Given the description of an element on the screen output the (x, y) to click on. 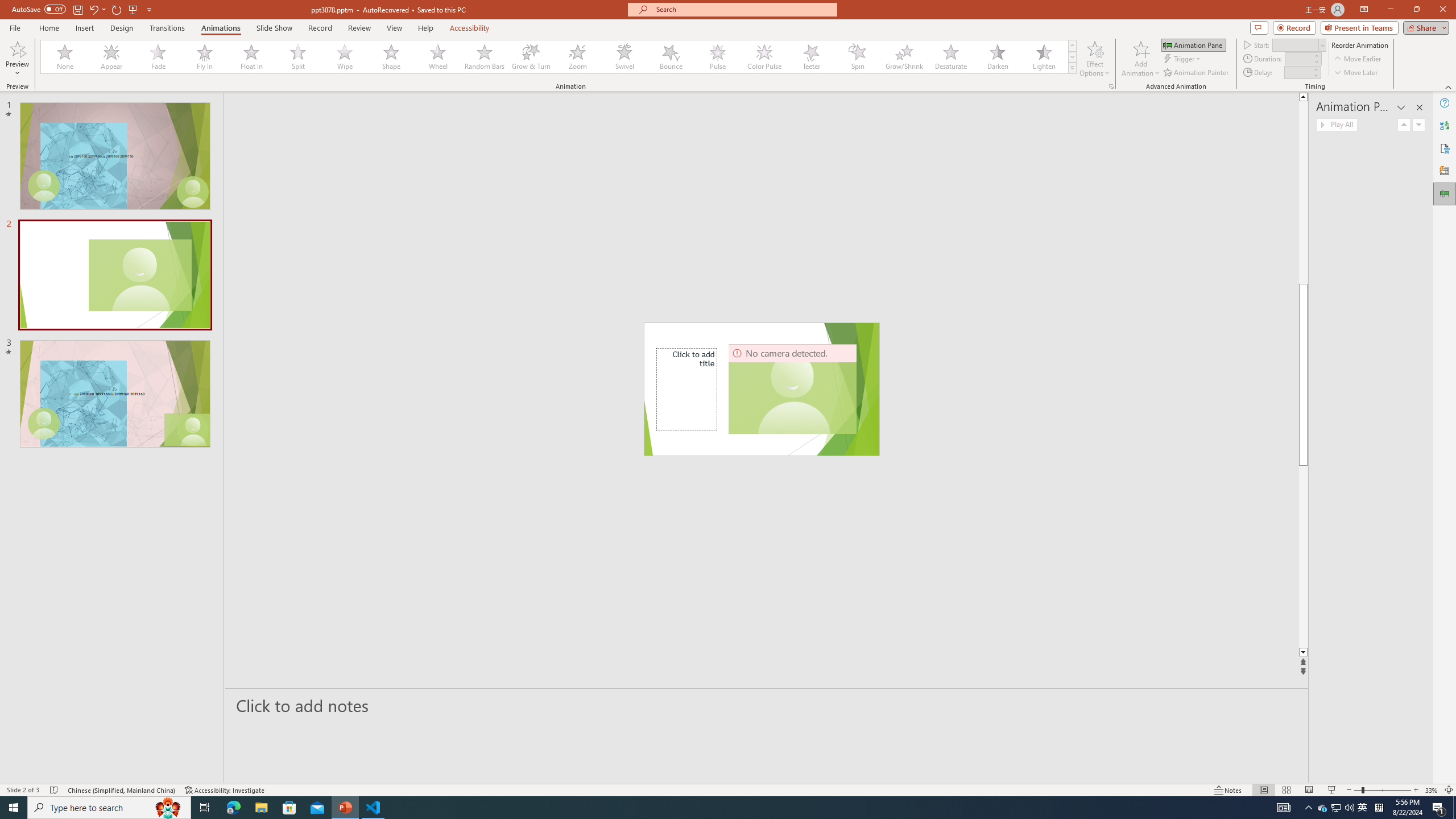
Shape (391, 56)
AutomationID: AnimationGallery (558, 56)
None (65, 56)
Zoom 33% (1431, 790)
Title TextBox (686, 389)
Float In (251, 56)
Effect Options (1094, 58)
Split (298, 56)
